Given the description of an element on the screen output the (x, y) to click on. 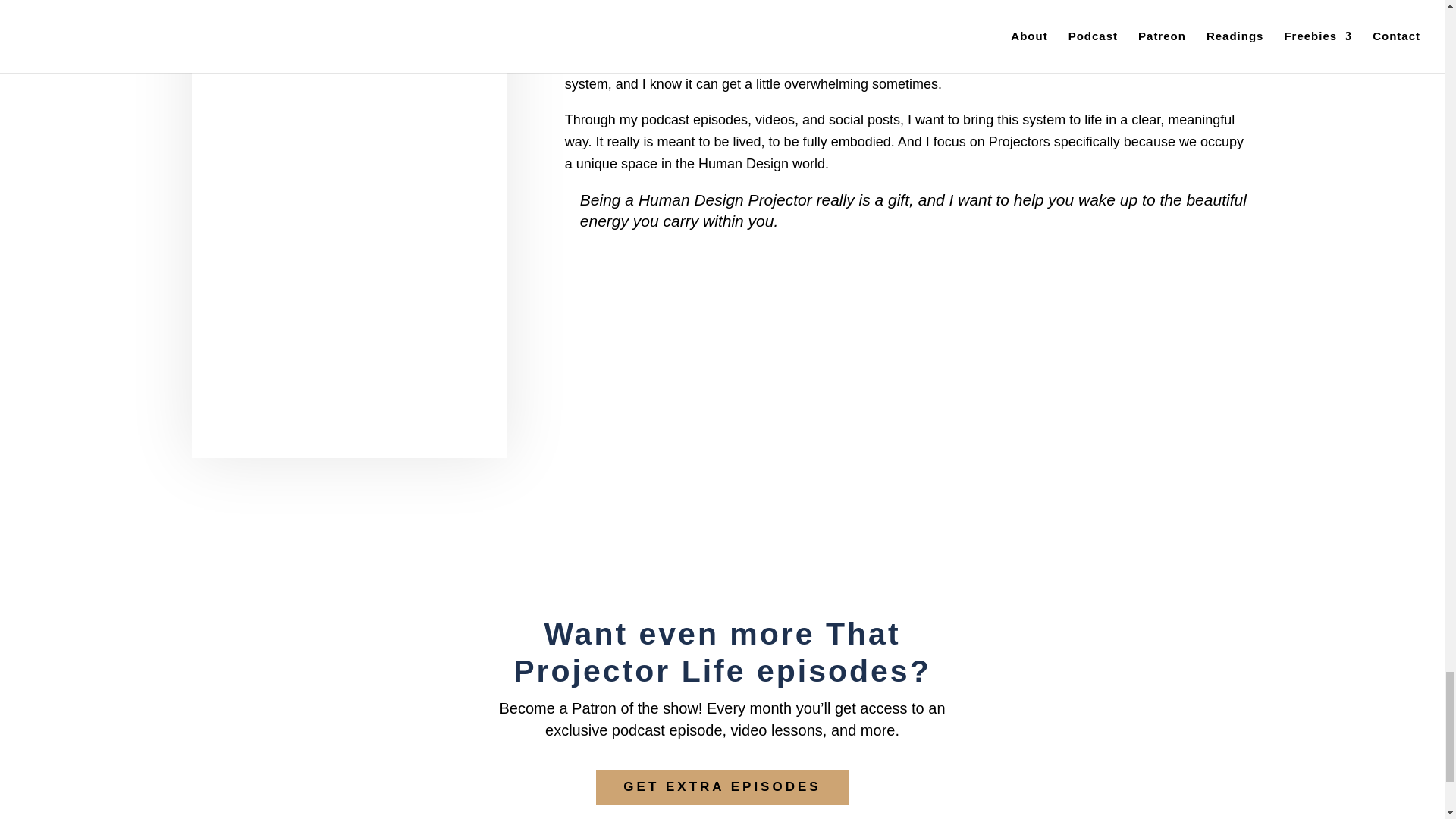
GET EXTRA EPISODES (721, 787)
